Given the description of an element on the screen output the (x, y) to click on. 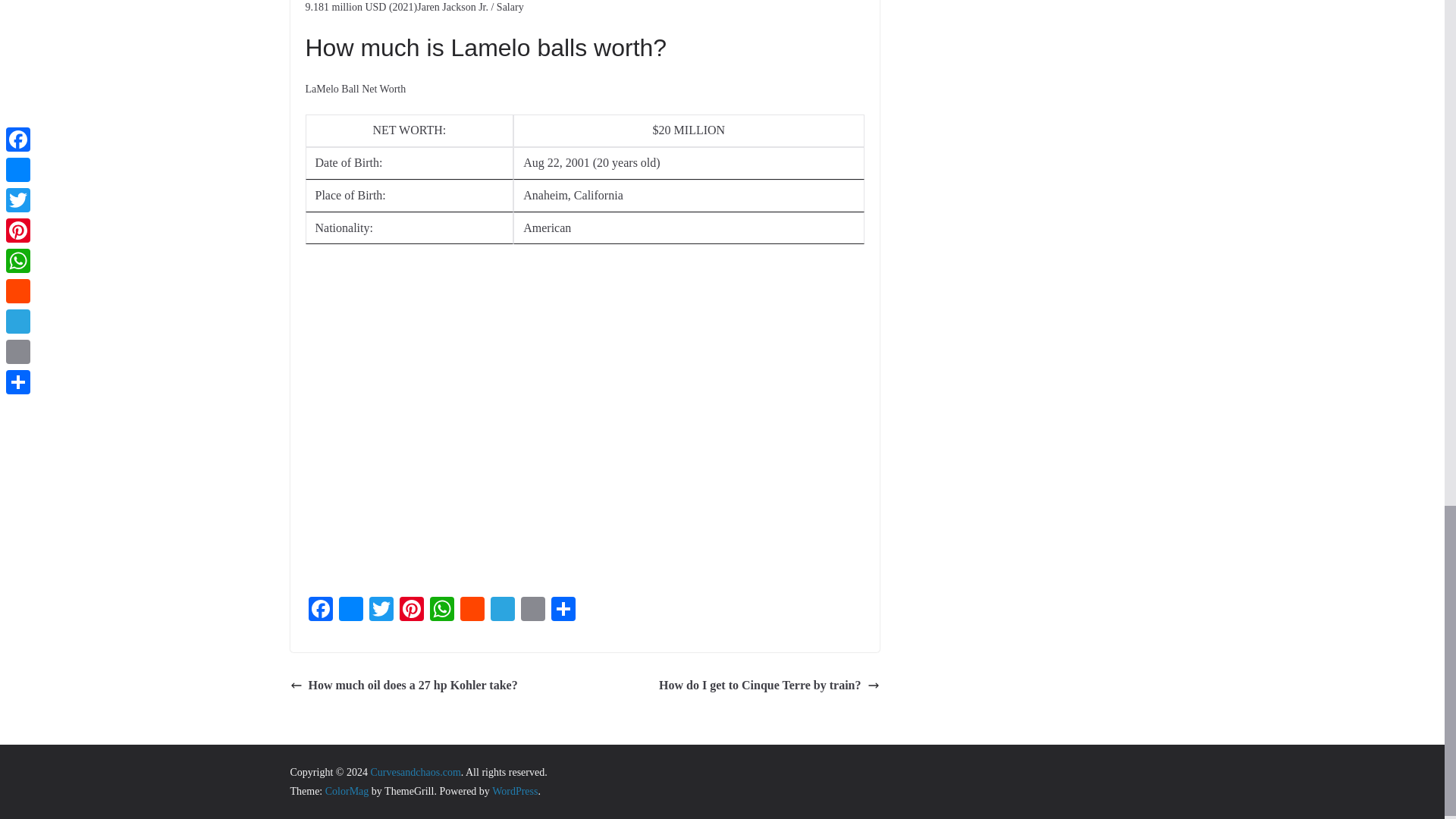
WhatsApp (441, 610)
Telegram (501, 610)
Pinterest (411, 610)
Twitter (380, 610)
Email (531, 610)
WordPress (514, 790)
Reddit (471, 610)
Pinterest (411, 610)
Twitter (380, 610)
Messenger (349, 610)
